Given the description of an element on the screen output the (x, y) to click on. 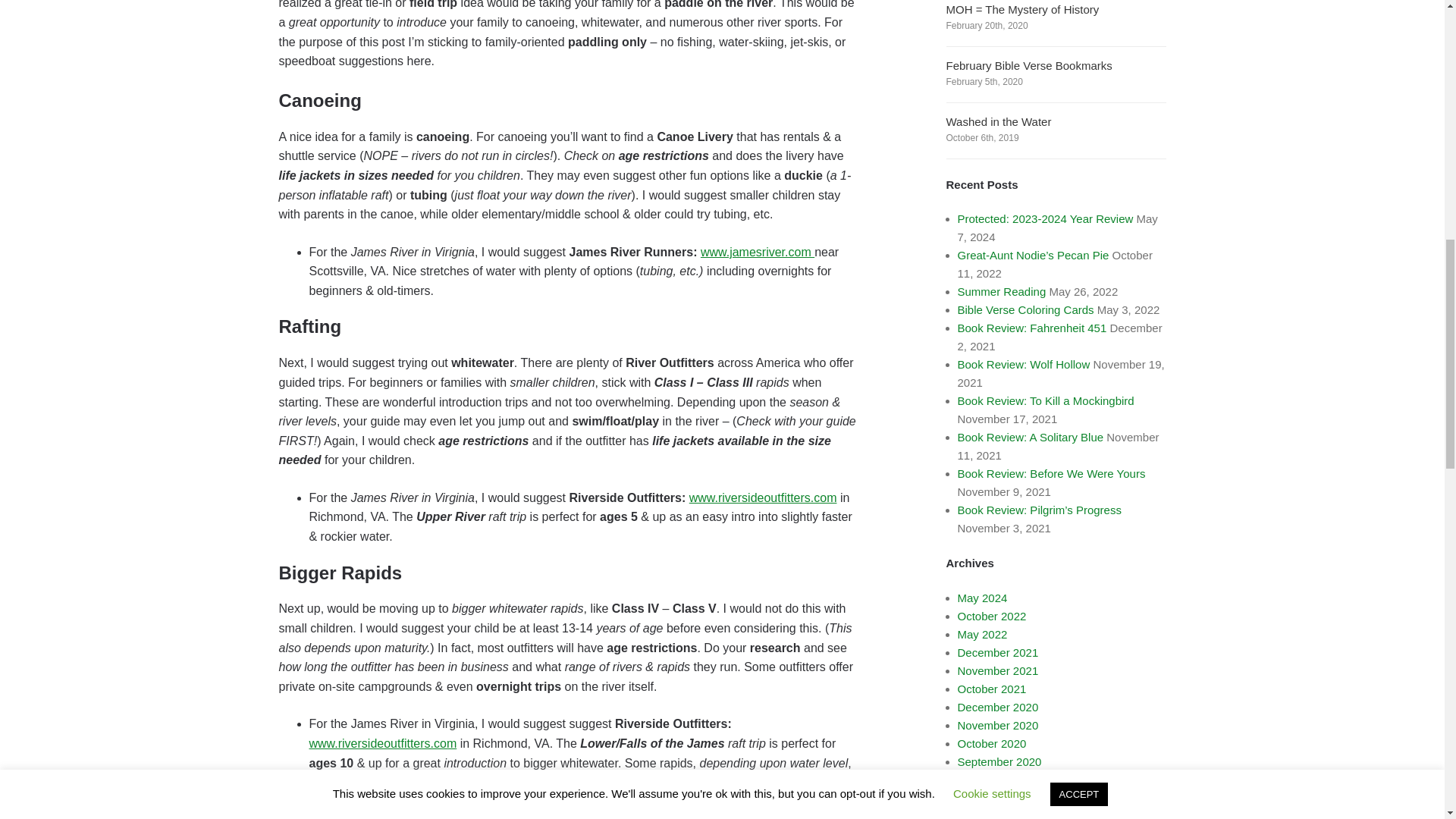
www.jamesriver.com (756, 251)
www.riversideoutfitters.com (762, 497)
www.riversideoutfitters.com (382, 743)
